Given the description of an element on the screen output the (x, y) to click on. 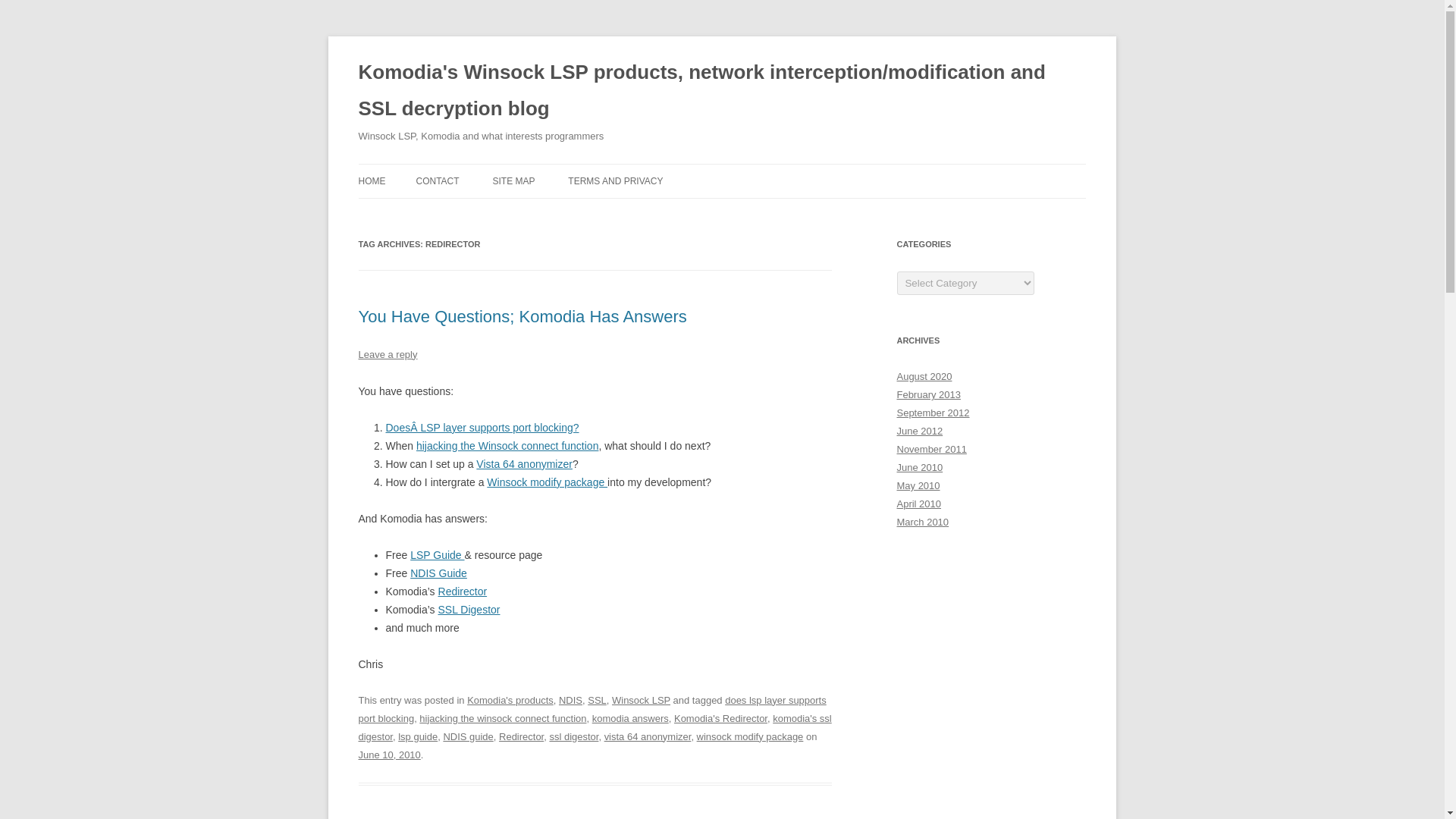
SSL Digestor (469, 609)
SSL (597, 699)
LSP Guide (437, 554)
Redirector (521, 736)
Komodia's Redirector (720, 717)
Leave a reply (387, 354)
hijacking the winsock connect function (502, 717)
Komodia's products (510, 699)
Winsock modify package (546, 481)
lsp guide (417, 736)
SITE MAP (513, 181)
June 10, 2010 (389, 754)
You Have Questions; Komodia Has Answers (521, 316)
ssl digestor (573, 736)
